Given the description of an element on the screen output the (x, y) to click on. 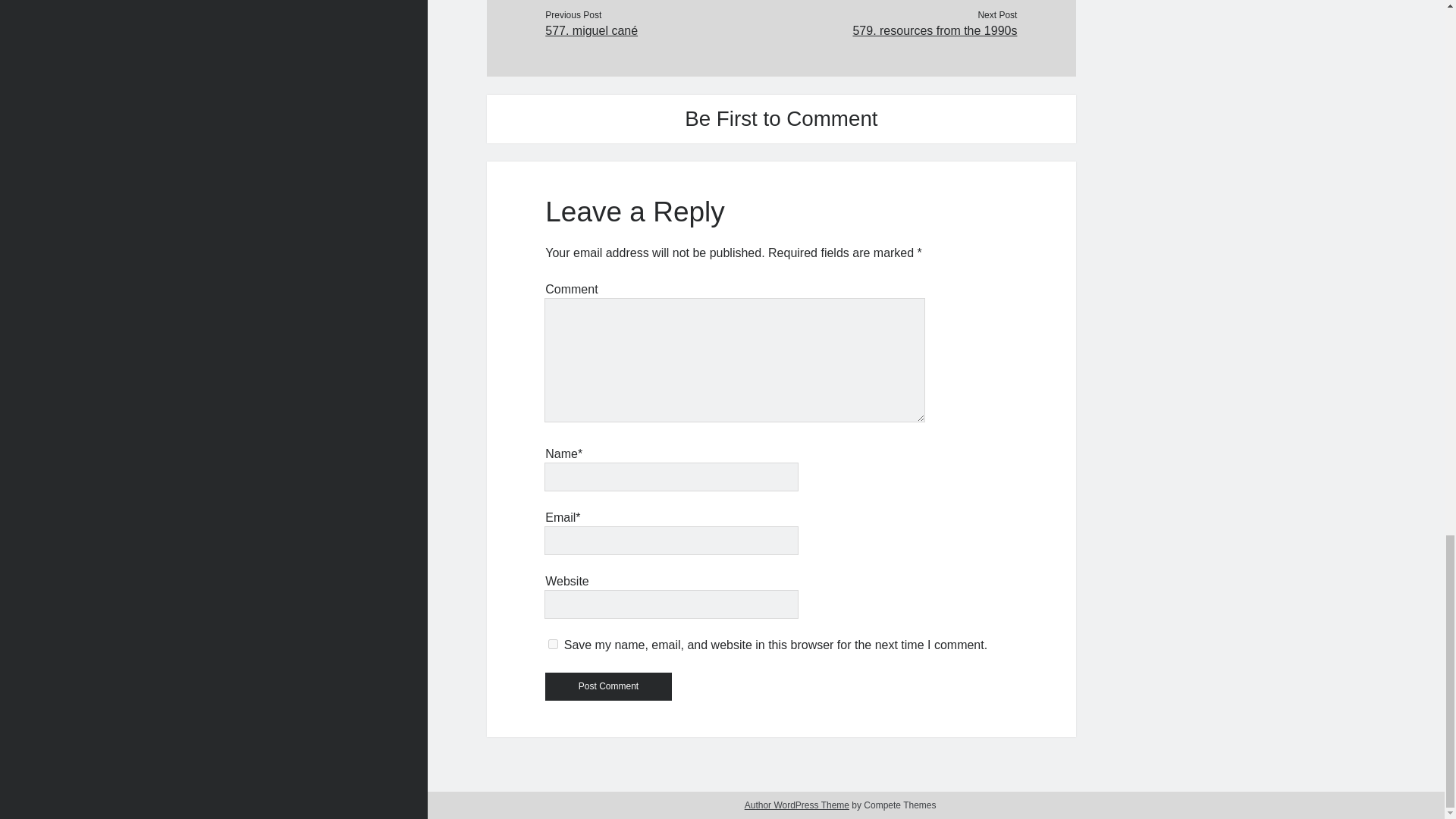
yes (552, 644)
579. resources from the 1990s (898, 31)
Post Comment (607, 686)
